Given the description of an element on the screen output the (x, y) to click on. 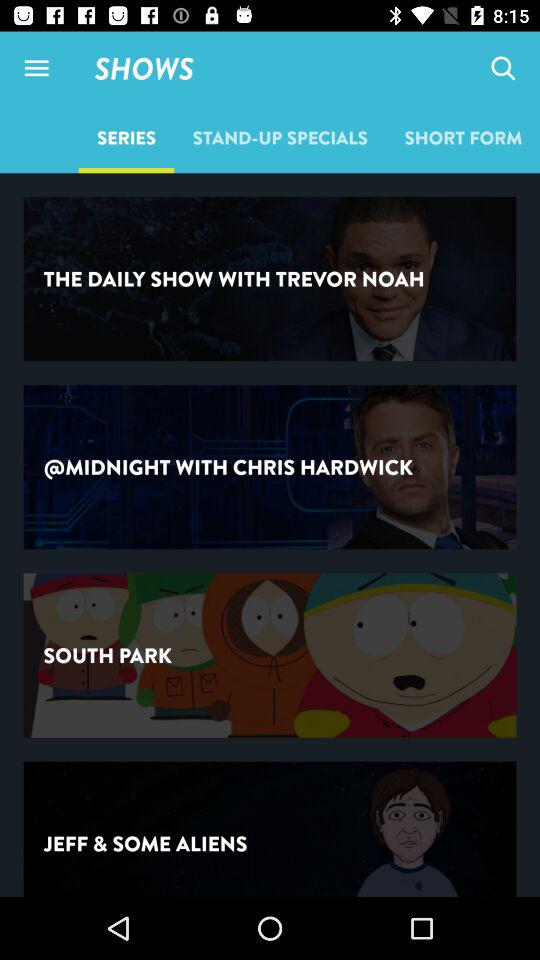
click icon next to series icon (280, 137)
